Given the description of an element on the screen output the (x, y) to click on. 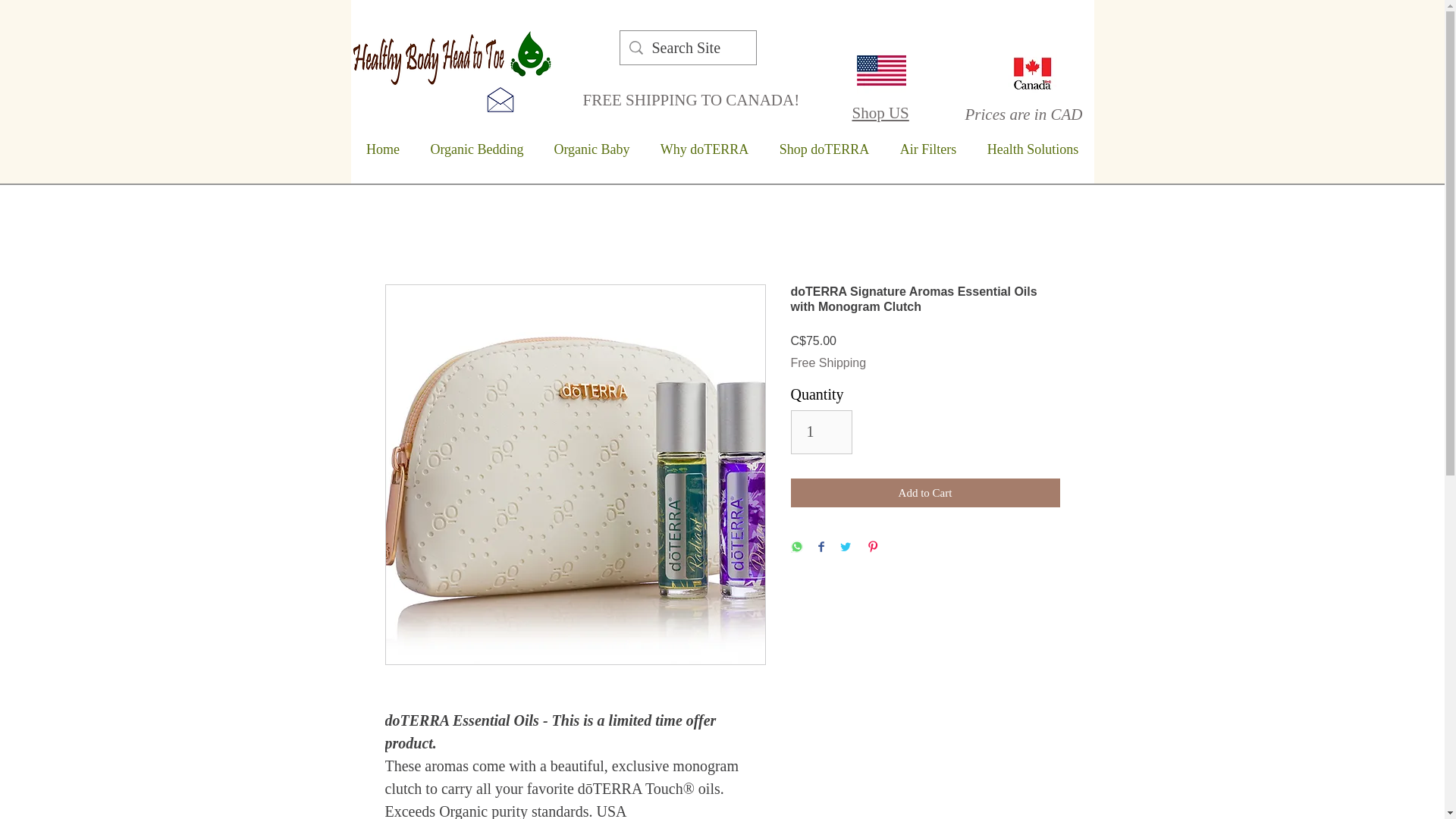
Organic Bedding (476, 149)
Why doTERRA (703, 149)
Home (382, 149)
Organic Baby (591, 149)
1 (820, 432)
Shop US (879, 113)
